Given the description of an element on the screen output the (x, y) to click on. 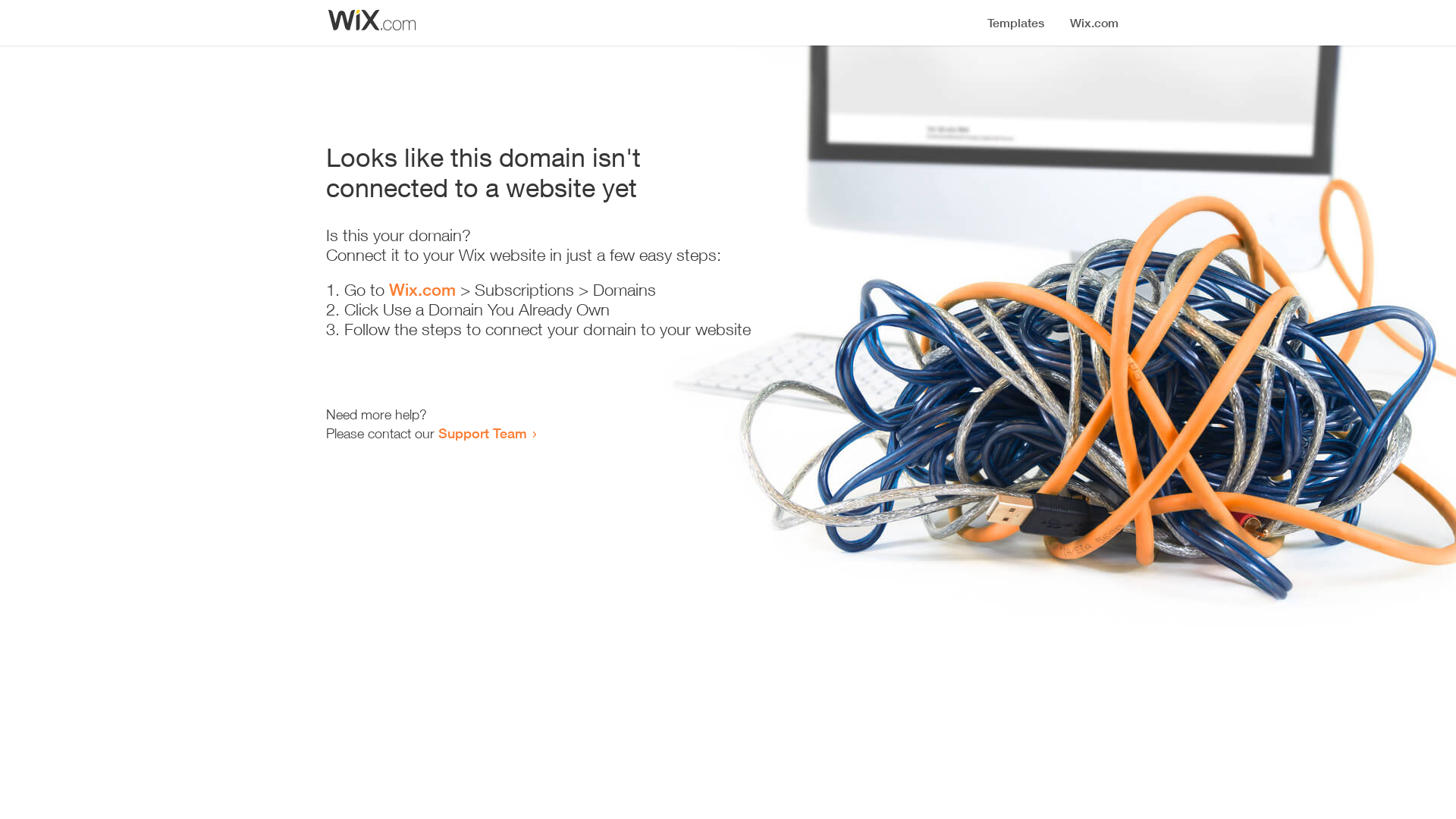
Wix.com Element type: text (422, 289)
Support Team Element type: text (482, 432)
